Given the description of an element on the screen output the (x, y) to click on. 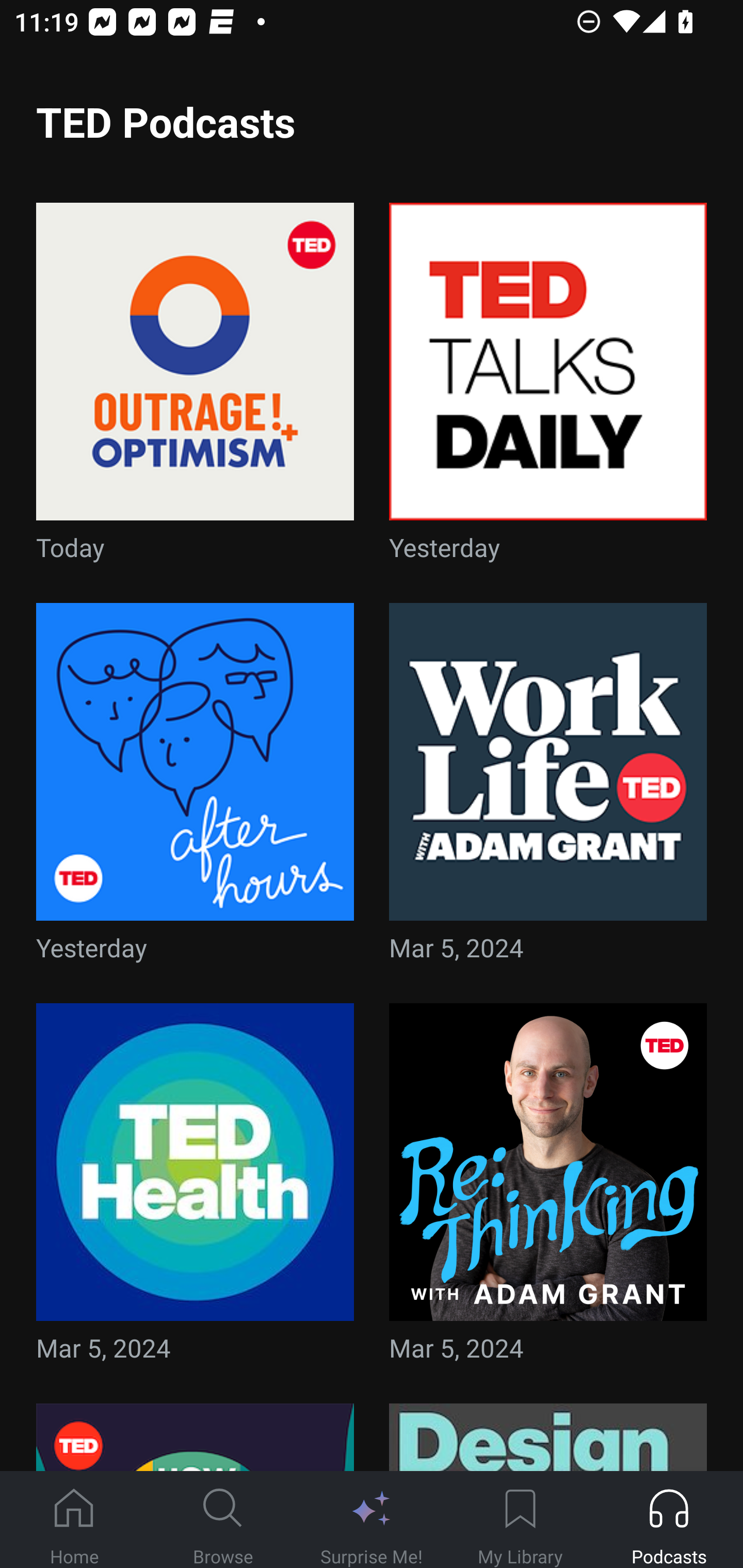
Today (194, 387)
Yesterday (547, 387)
Yesterday (194, 788)
Mar 5, 2024 (547, 788)
Mar 5, 2024 (194, 1189)
Mar 5, 2024 (547, 1189)
Home (74, 1520)
Browse (222, 1520)
Surprise Me! (371, 1520)
My Library (519, 1520)
Podcasts (668, 1520)
